Given the description of an element on the screen output the (x, y) to click on. 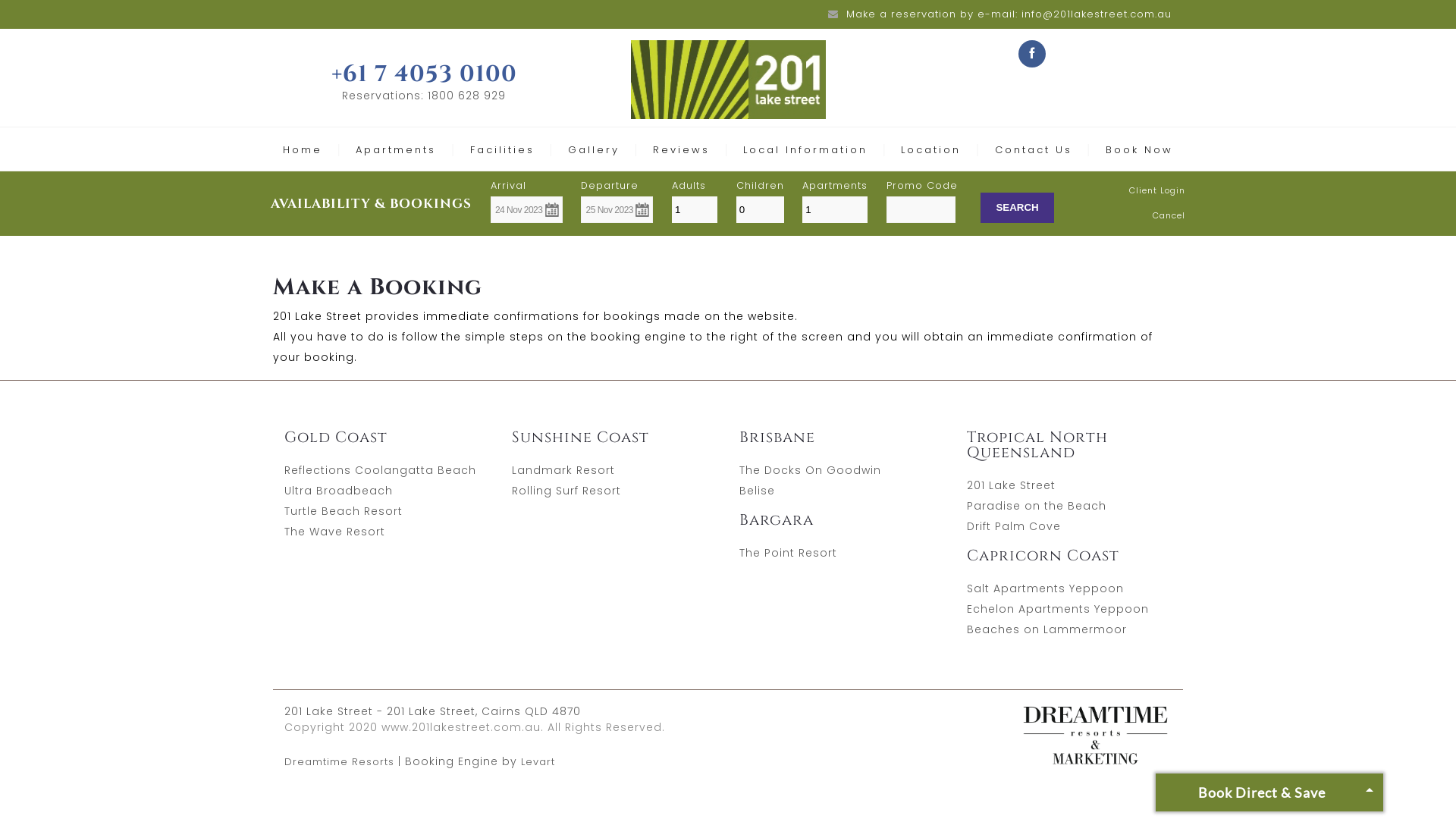
Reflections Coolangatta Beach Element type: text (380, 469)
201 Lake Street Element type: text (1010, 484)
Contact Us Element type: text (1033, 149)
Levart Element type: text (537, 761)
Book Now Element type: text (1139, 149)
Paradise on the Beach Element type: text (1036, 505)
Client Login Element type: text (1157, 190)
SEARCH Element type: text (1016, 207)
Landmark Resort Element type: text (563, 469)
Apartments Element type: text (395, 149)
Dreamtime Resorts Element type: text (339, 761)
Rolling Surf Resort Element type: text (566, 490)
Local Information Element type: text (805, 149)
Make a reservation by e-mail: info@201lakestreet.com.au Element type: text (1008, 13)
The Point Resort Element type: text (788, 552)
Echelon Apartments Yeppoon Element type: text (1057, 608)
Ultra Broadbeach Element type: text (338, 490)
Location Element type: text (930, 149)
Facilities Element type: text (502, 149)
Turtle Beach Resort Element type: text (343, 510)
Reviews Element type: text (680, 149)
Salt Apartments Yeppoon Element type: text (1044, 588)
Home Element type: text (302, 149)
Cancel Element type: text (1168, 215)
Belise Element type: text (757, 490)
Gallery Element type: text (593, 149)
The Wave Resort Element type: text (334, 531)
Beaches on Lammermoor Element type: text (1046, 629)
The Docks On Goodwin Element type: text (810, 469)
Drift Palm Cove Element type: text (1013, 525)
